Given the description of an element on the screen output the (x, y) to click on. 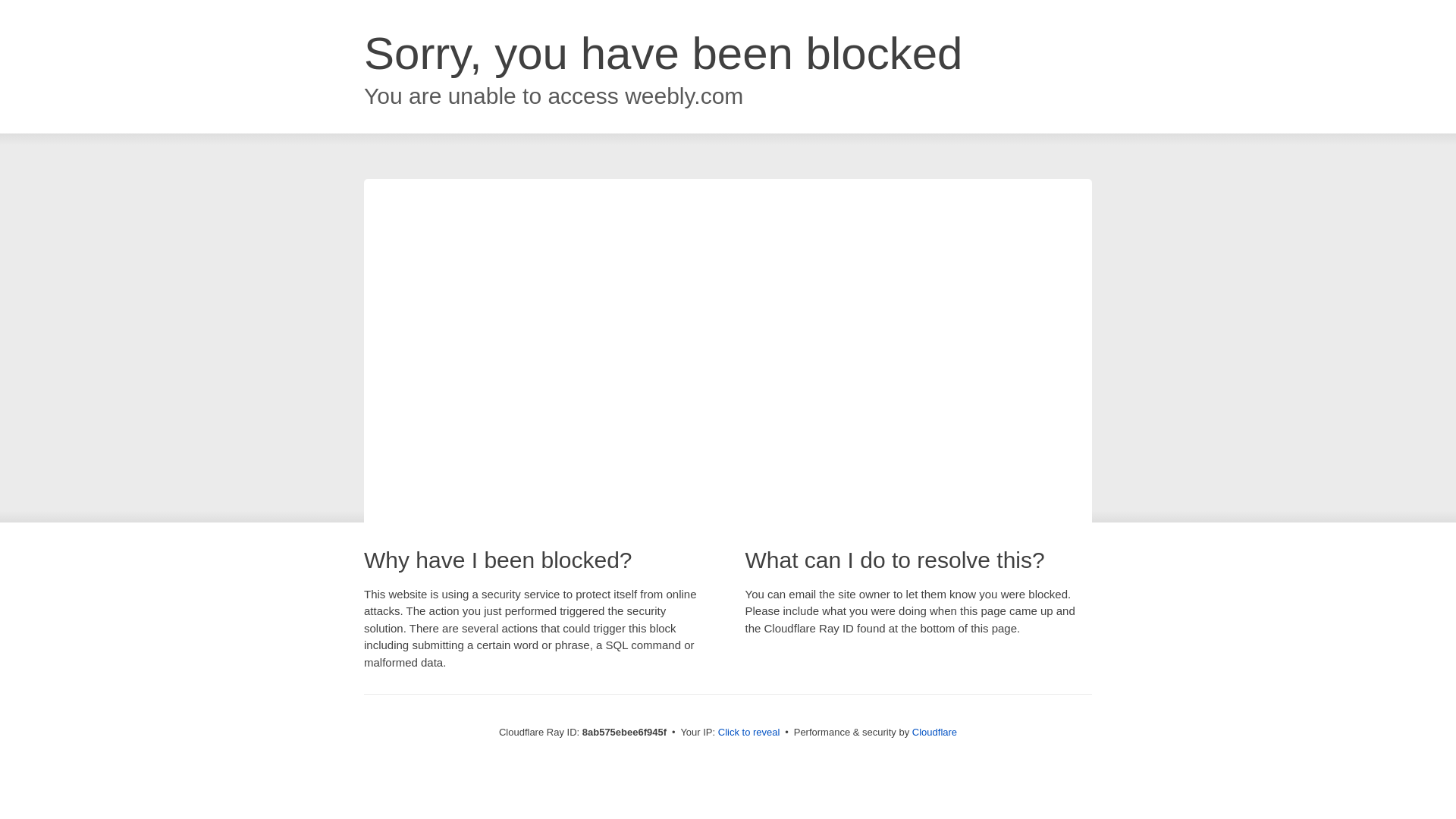
Cloudflare (934, 731)
Click to reveal (748, 732)
